Given the description of an element on the screen output the (x, y) to click on. 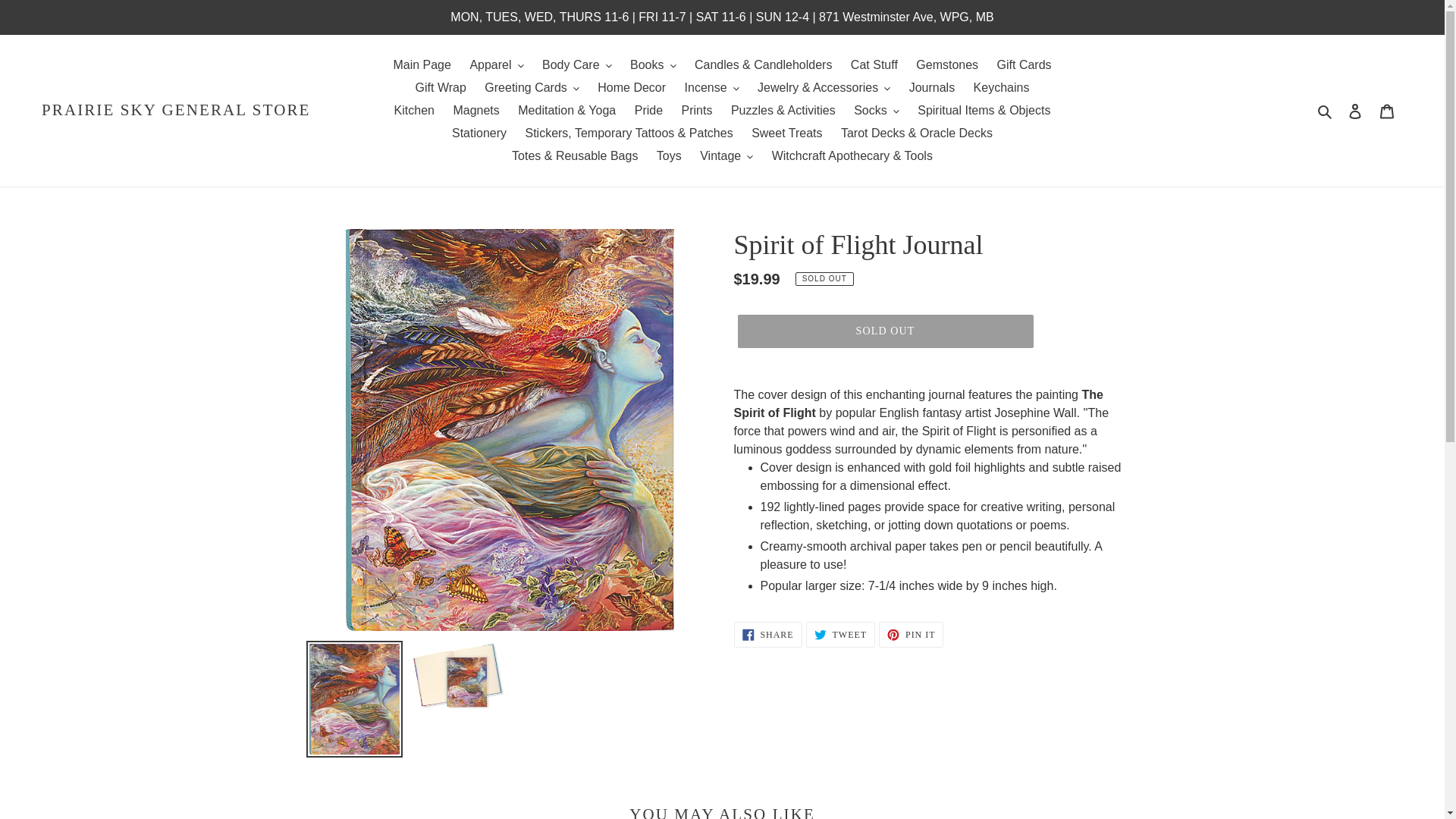
Main Page (421, 65)
Books (652, 65)
PRAIRIE SKY GENERAL STORE (176, 109)
Body Care (577, 65)
Apparel (496, 65)
